Given the description of an element on the screen output the (x, y) to click on. 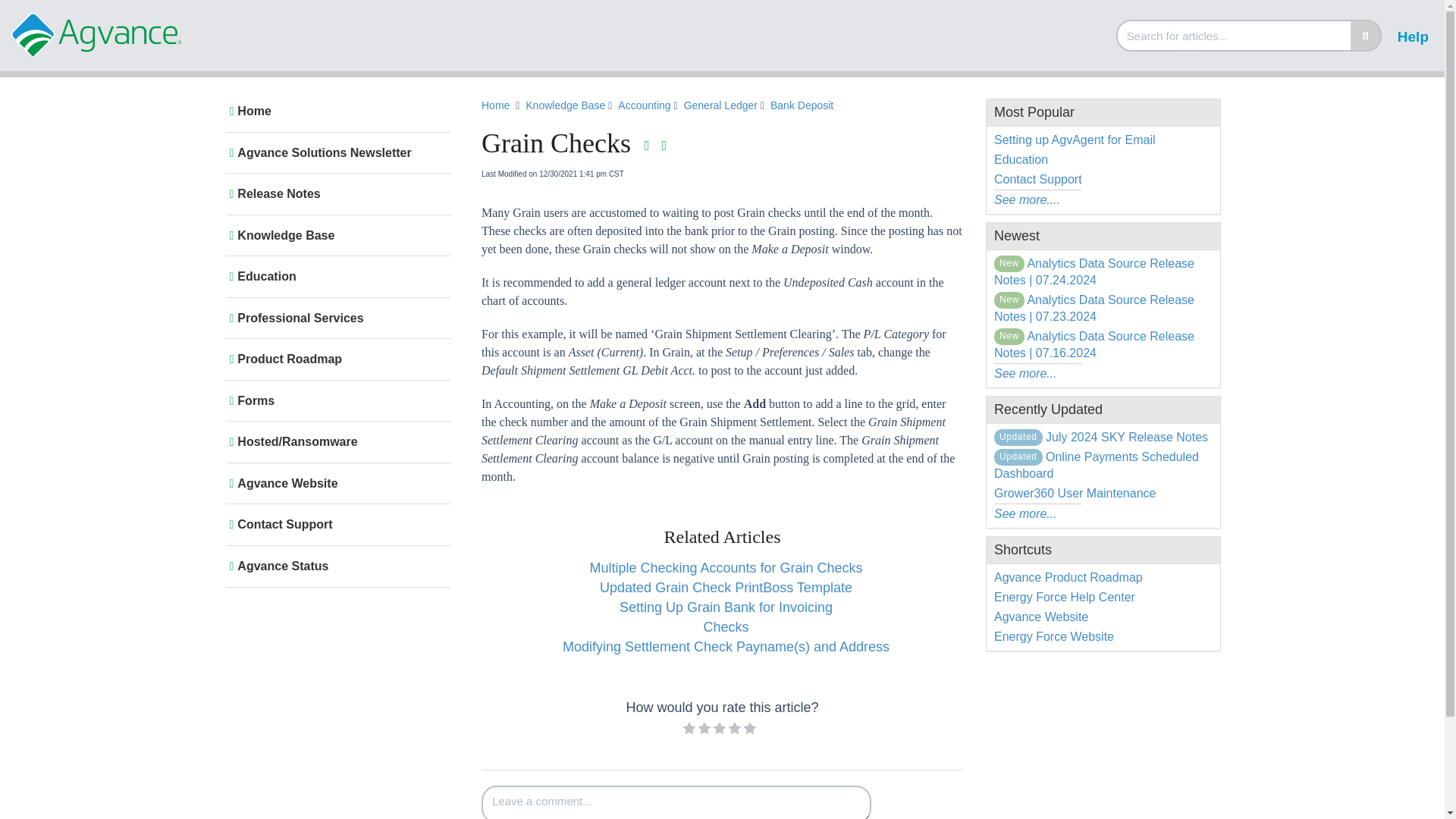
Home (334, 111)
Forms (334, 401)
Agvance Status (334, 566)
Search (1235, 35)
Contact Support (334, 524)
Education (334, 276)
Knowledge Base (566, 105)
Agvance Solutions Newsletter (334, 153)
Download PDF (647, 145)
Knowledge Base (565, 105)
Accounting (643, 105)
Knowledge Base (334, 235)
Home (495, 105)
Agvance Website (334, 483)
Professional Services (334, 318)
